Given the description of an element on the screen output the (x, y) to click on. 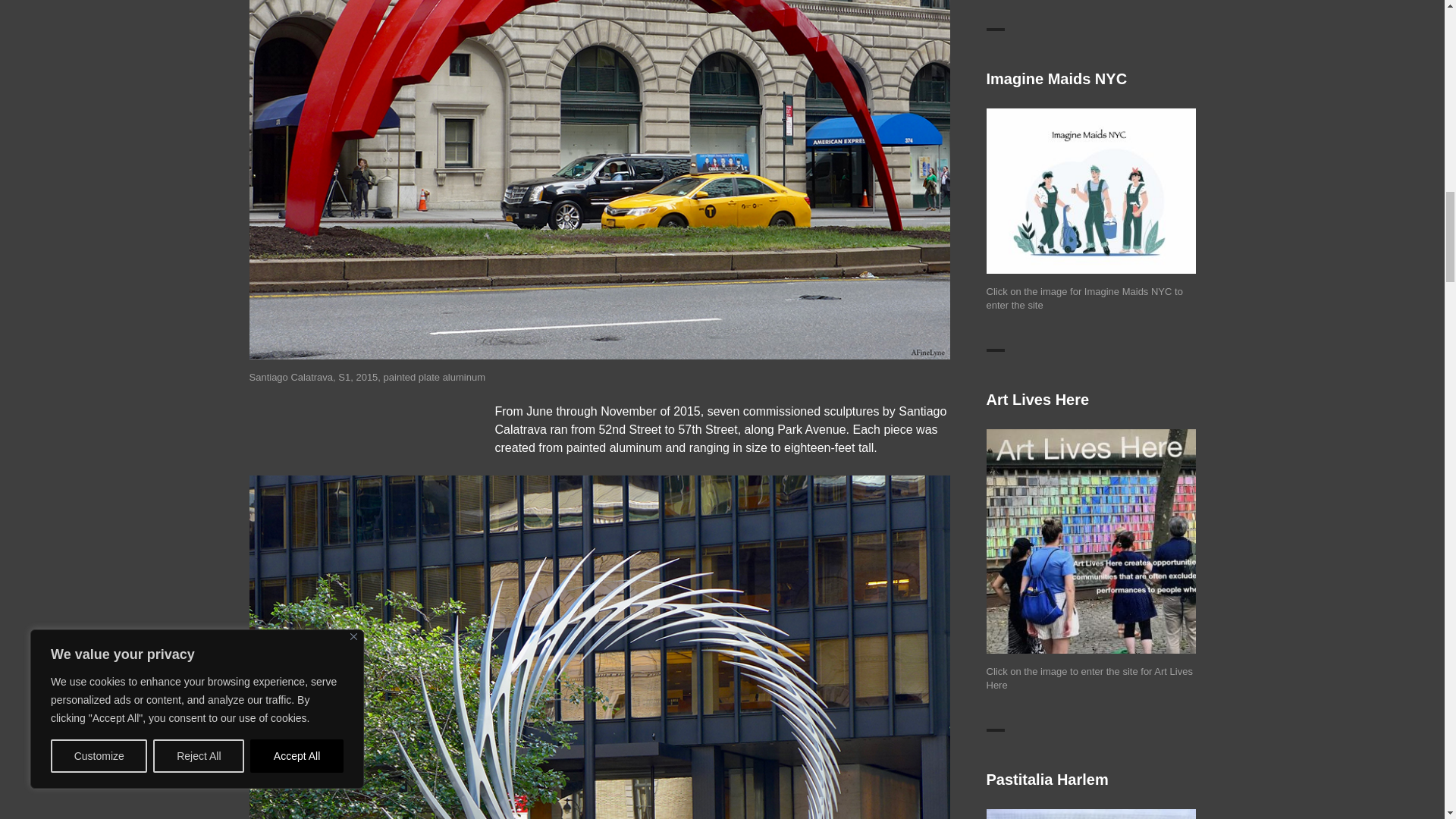
Pastitalia Harlem (1090, 814)
